Given the description of an element on the screen output the (x, y) to click on. 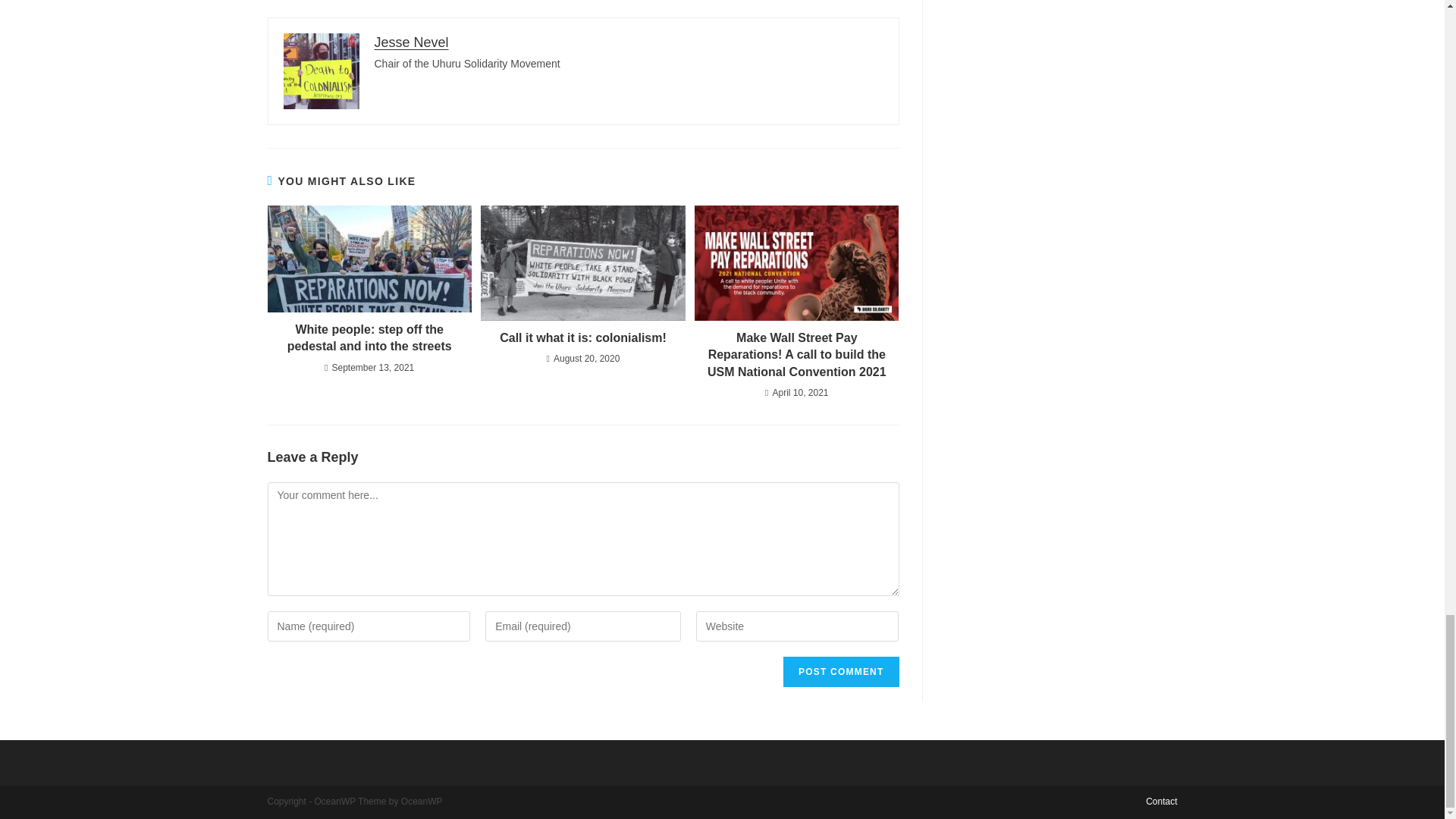
Post Comment (840, 671)
